Given the description of an element on the screen output the (x, y) to click on. 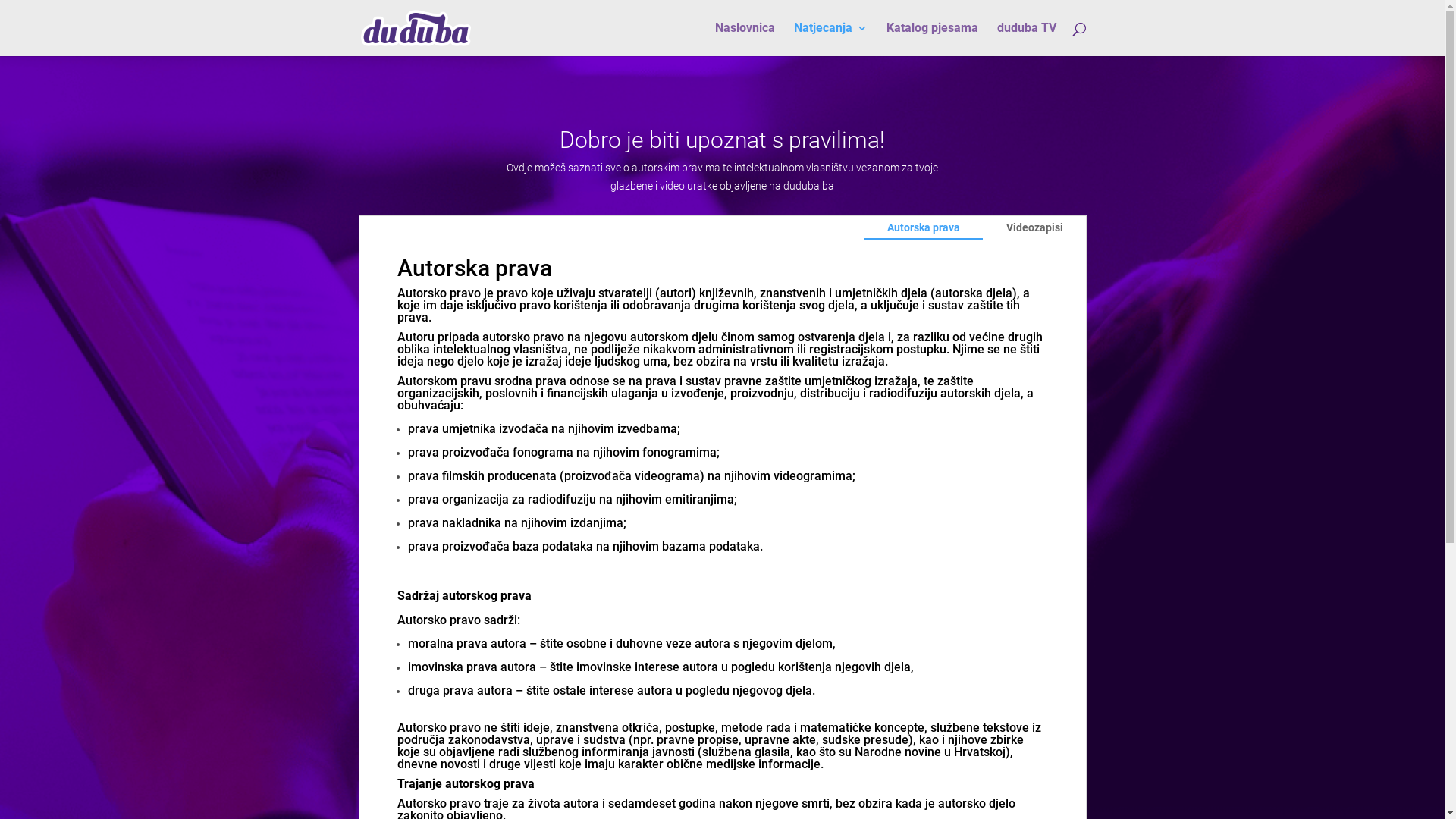
Naslovnica Element type: text (744, 39)
Videozapisi Element type: text (1033, 228)
Autorska prava Element type: text (923, 228)
duduba TV Element type: text (1025, 39)
Natjecanja Element type: text (829, 39)
Katalog pjesama Element type: text (931, 39)
